Given the description of an element on the screen output the (x, y) to click on. 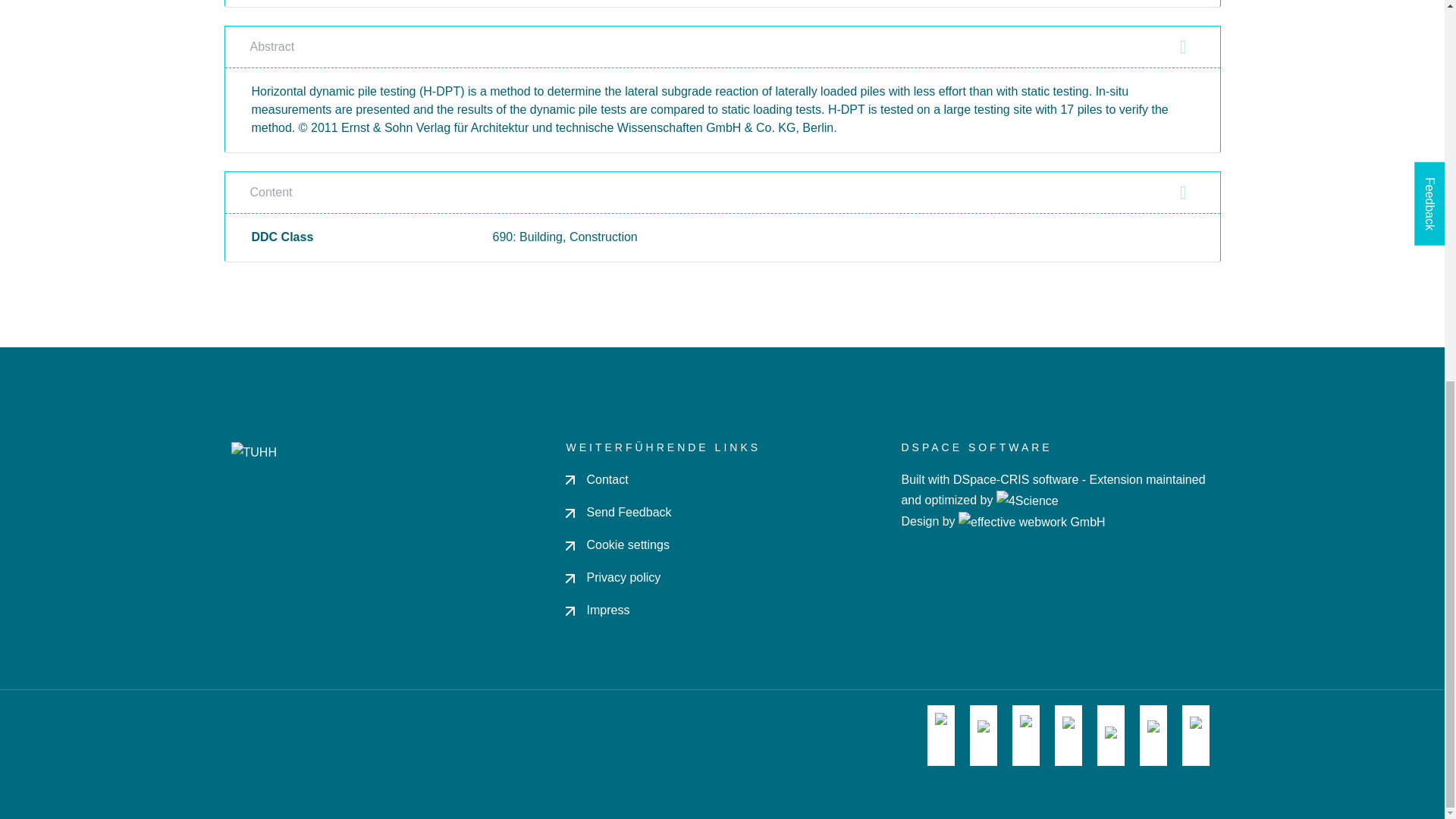
Close section (1183, 46)
effective webwork GmbH Hamburg (1031, 521)
Content (722, 192)
Abstract (722, 46)
Close section (1183, 192)
